Given the description of an element on the screen output the (x, y) to click on. 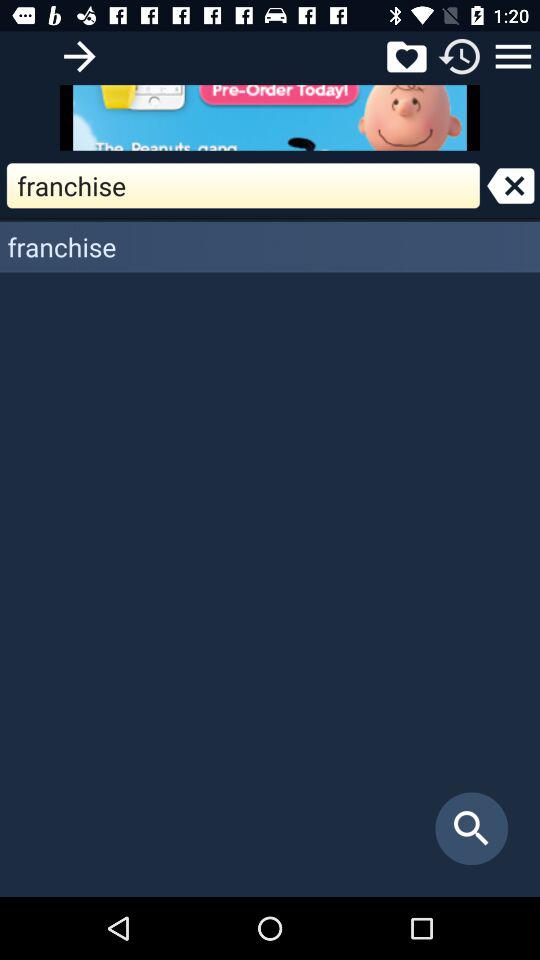
delete the phrase (510, 185)
